Given the description of an element on the screen output the (x, y) to click on. 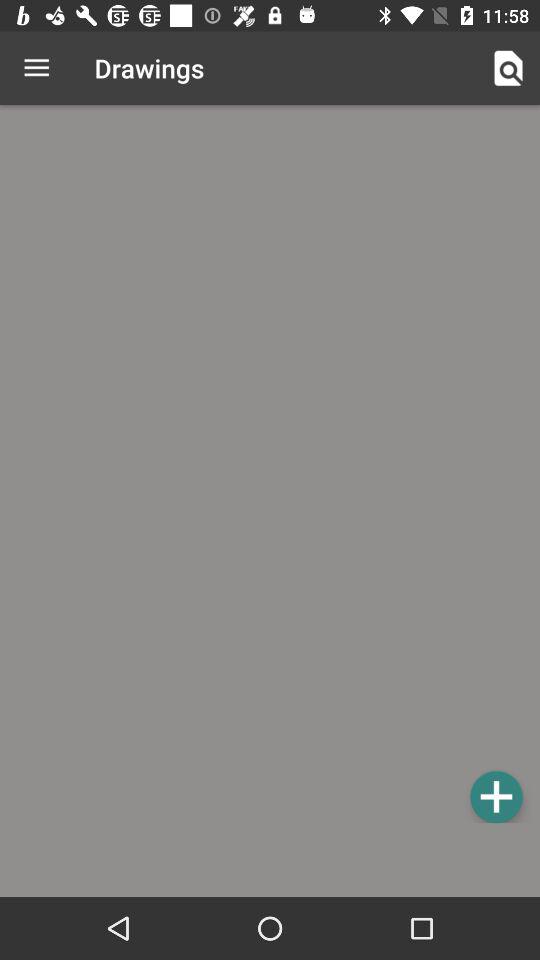
launch the icon at the bottom right corner (496, 796)
